Given the description of an element on the screen output the (x, y) to click on. 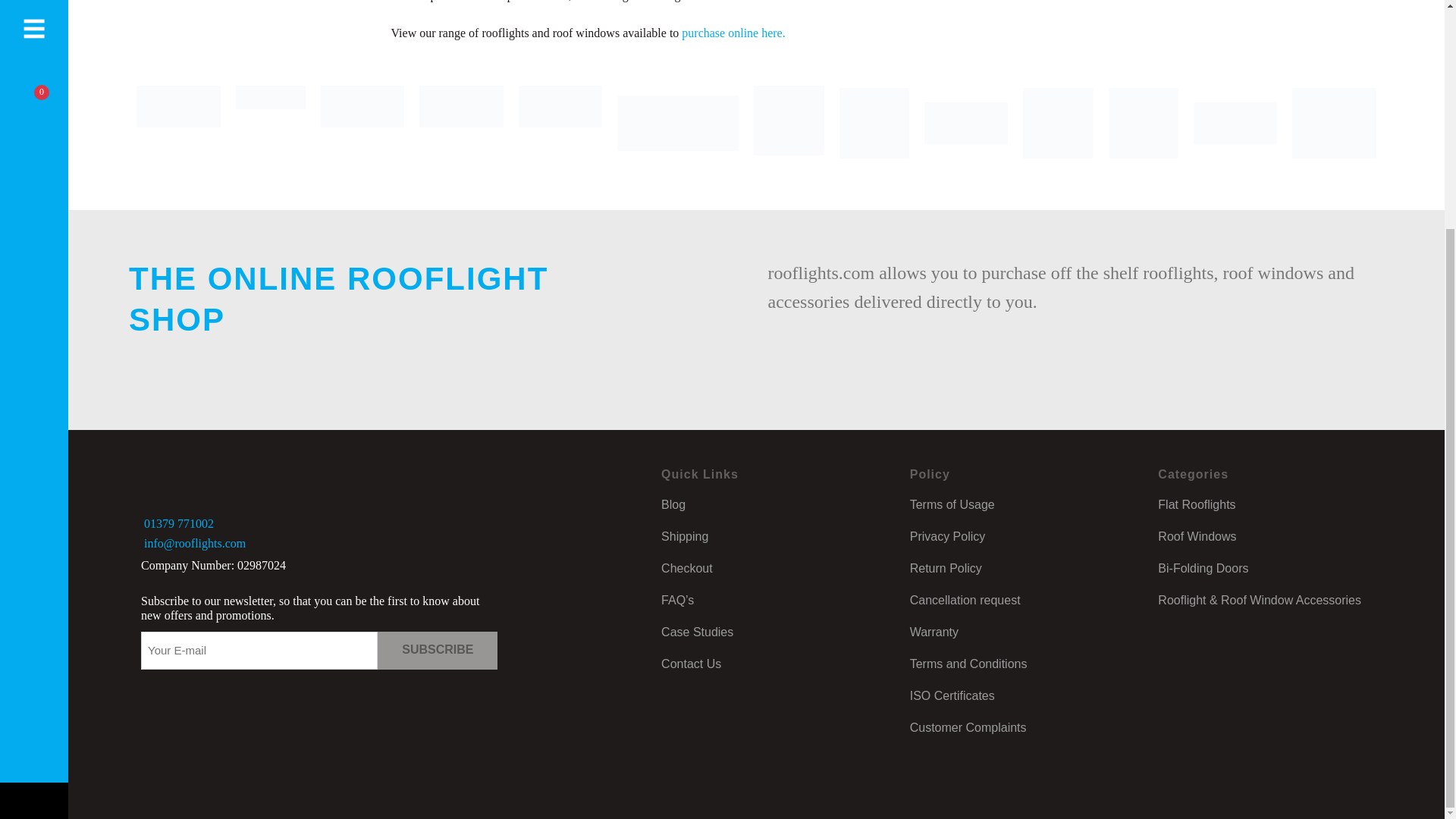
Fakro Logo (461, 123)
Velux Logo (270, 123)
Korniche Logo (362, 123)
CRASH Charity (789, 123)
Glazing Vision Logo (178, 123)
Sona Logo (560, 123)
